Given the description of an element on the screen output the (x, y) to click on. 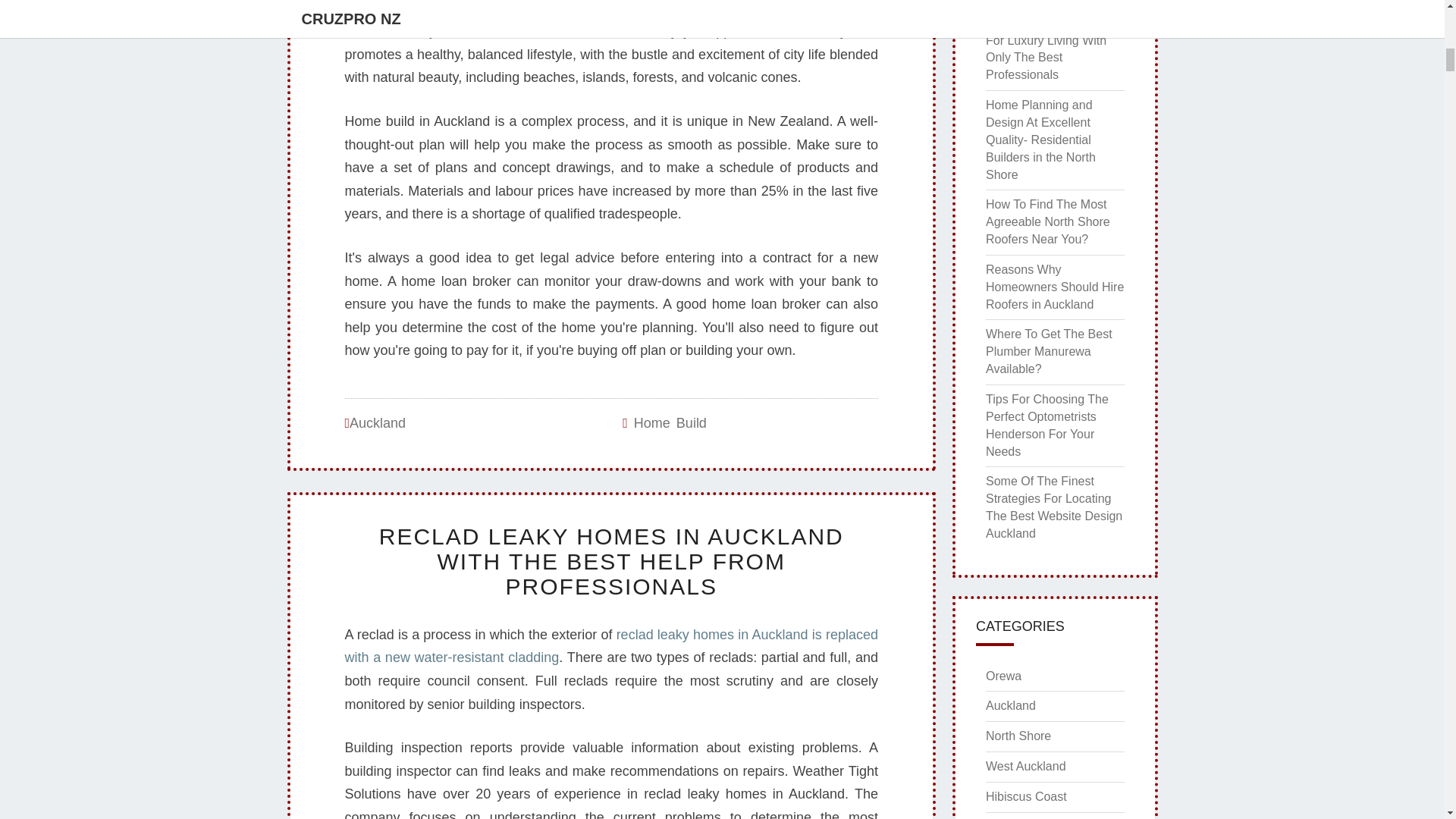
Home Build (669, 422)
Auckland (377, 422)
